Given the description of an element on the screen output the (x, y) to click on. 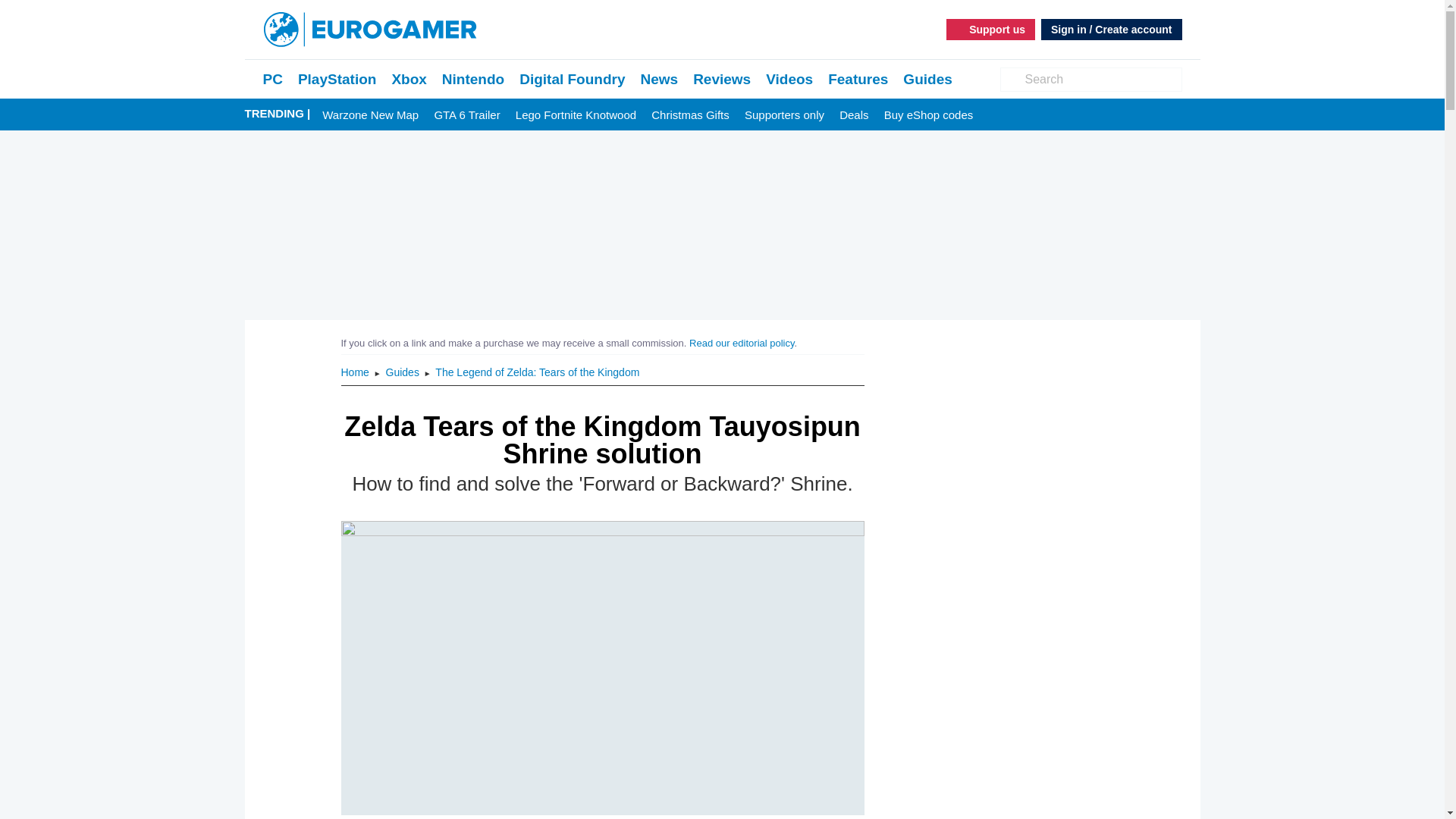
Videos (788, 78)
Home (356, 372)
GTA 6 Trailer (466, 114)
Christmas Gifts (689, 114)
PlayStation (336, 78)
Buy eShop codes (928, 114)
Features (858, 78)
Xbox (408, 78)
Guides (927, 78)
Warzone New Map (370, 114)
Reviews (722, 78)
Features (858, 78)
Lego Fortnite Knotwood (575, 114)
Warzone New Map (370, 114)
Supporters only (784, 114)
